Given the description of an element on the screen output the (x, y) to click on. 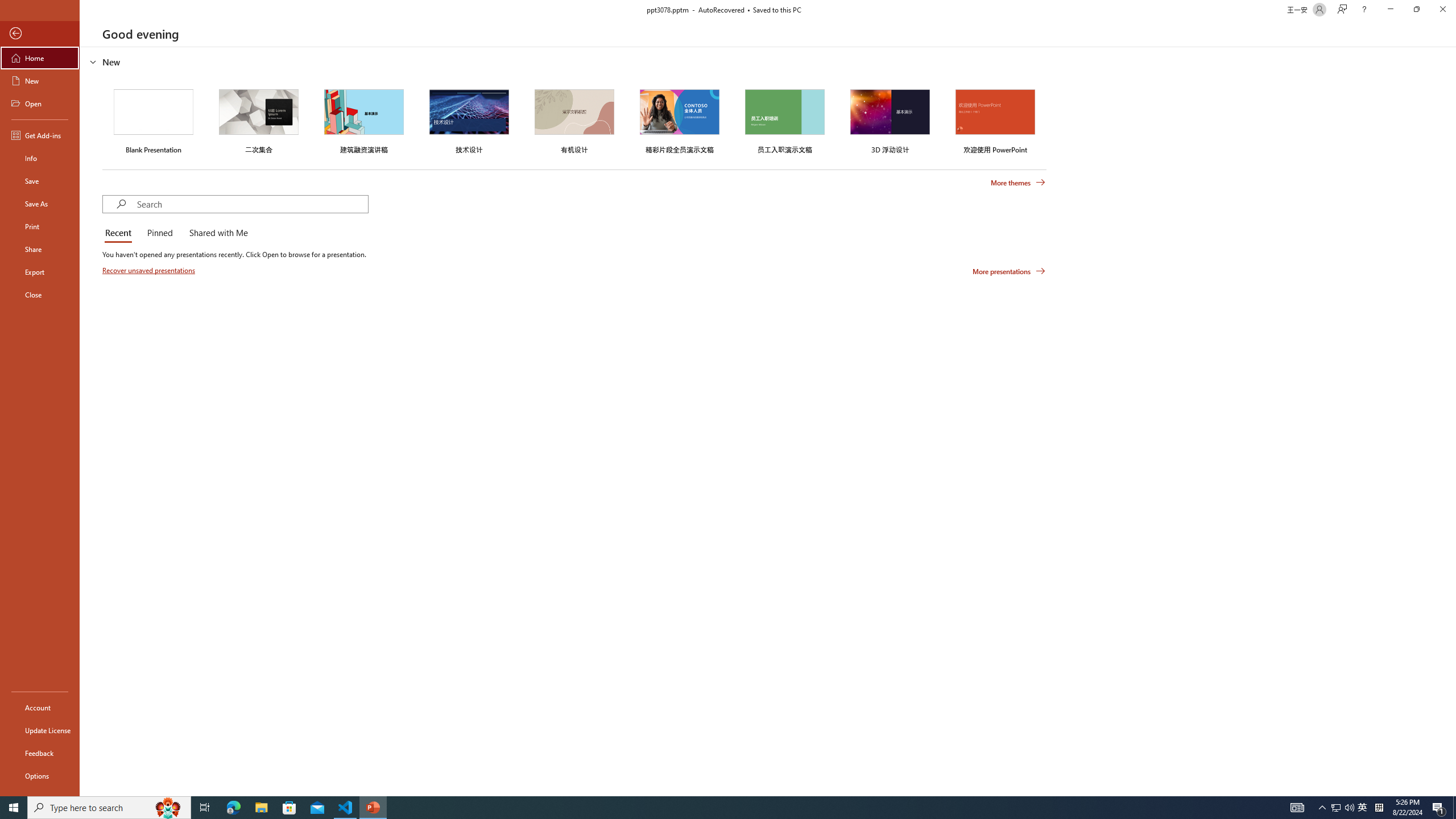
Google Chrome (729, 800)
